Given the description of an element on the screen output the (x, y) to click on. 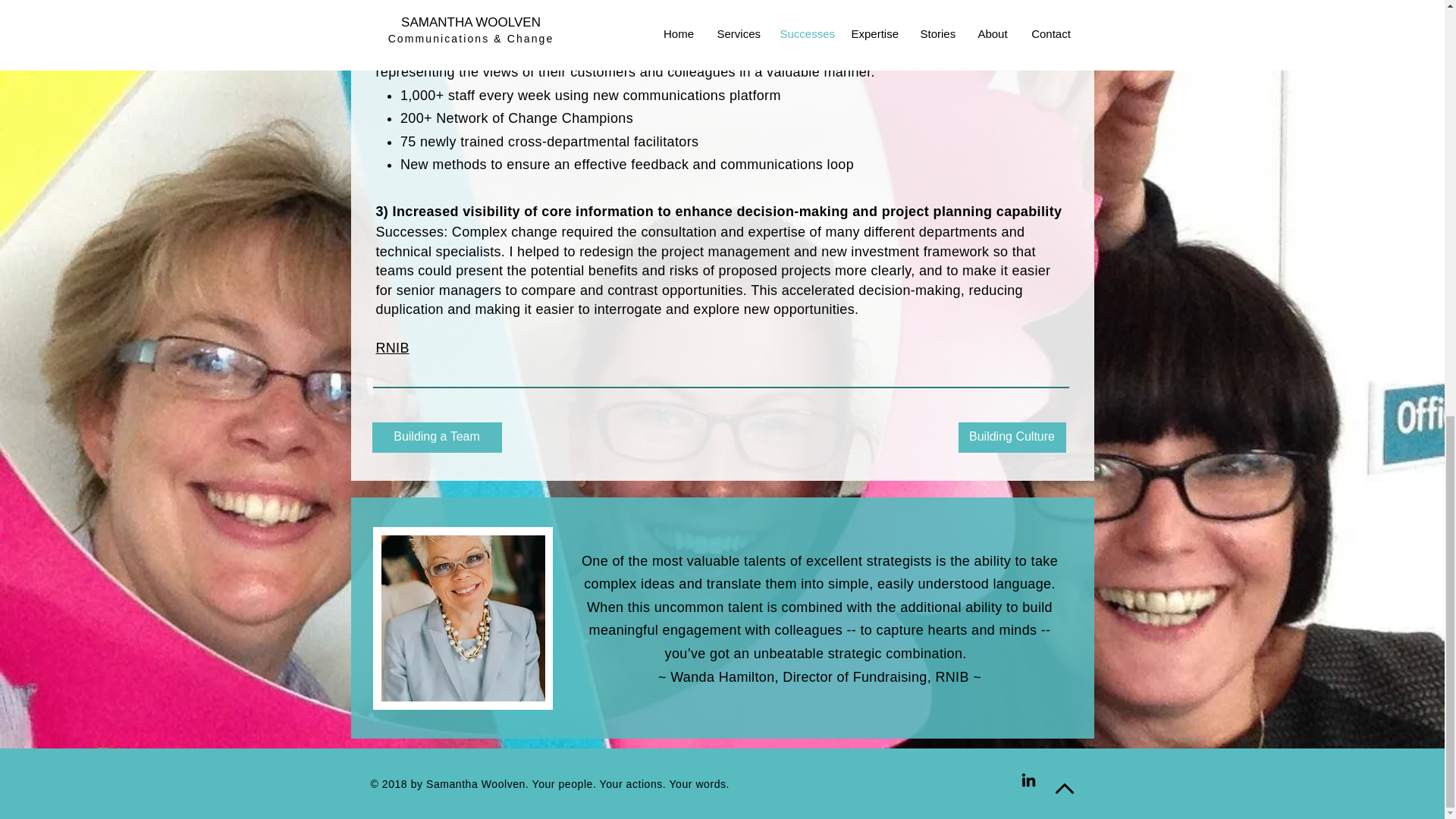
Building a Team (435, 437)
RNIB (392, 347)
Building Culture (1011, 437)
